Given the description of an element on the screen output the (x, y) to click on. 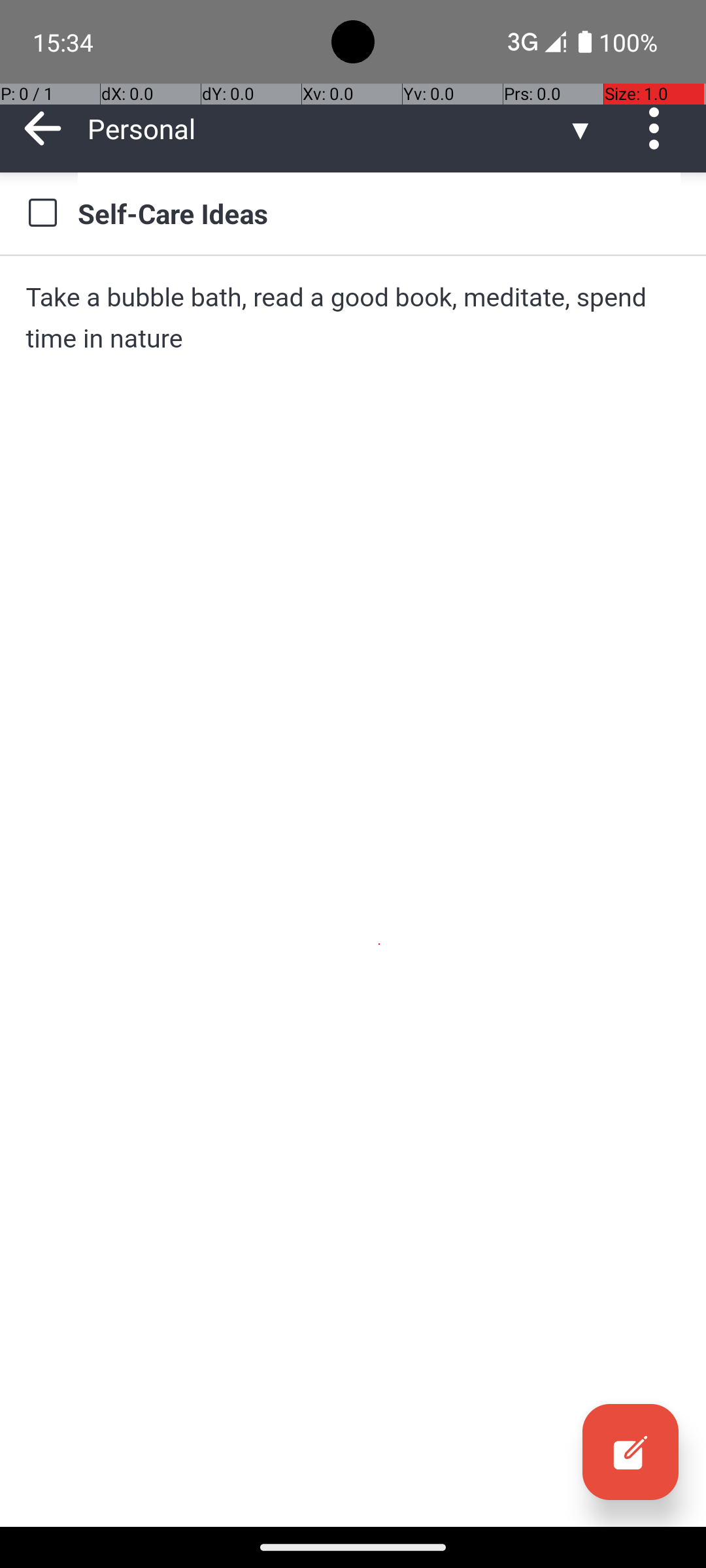
Self-Care Ideas Element type: android.widget.EditText (378, 213)
Personal Element type: android.widget.TextView (326, 128)
Take a bubble bath, read a good book, meditate, spend time in nature Element type: android.widget.TextView (352, 317)
